Given the description of an element on the screen output the (x, y) to click on. 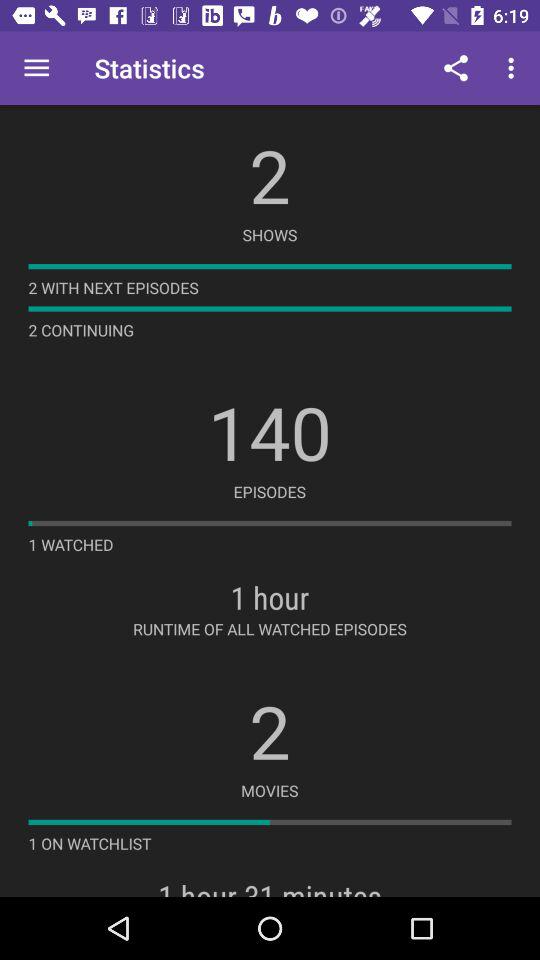
turn off icon above the episodes icon (269, 431)
